Given the description of an element on the screen output the (x, y) to click on. 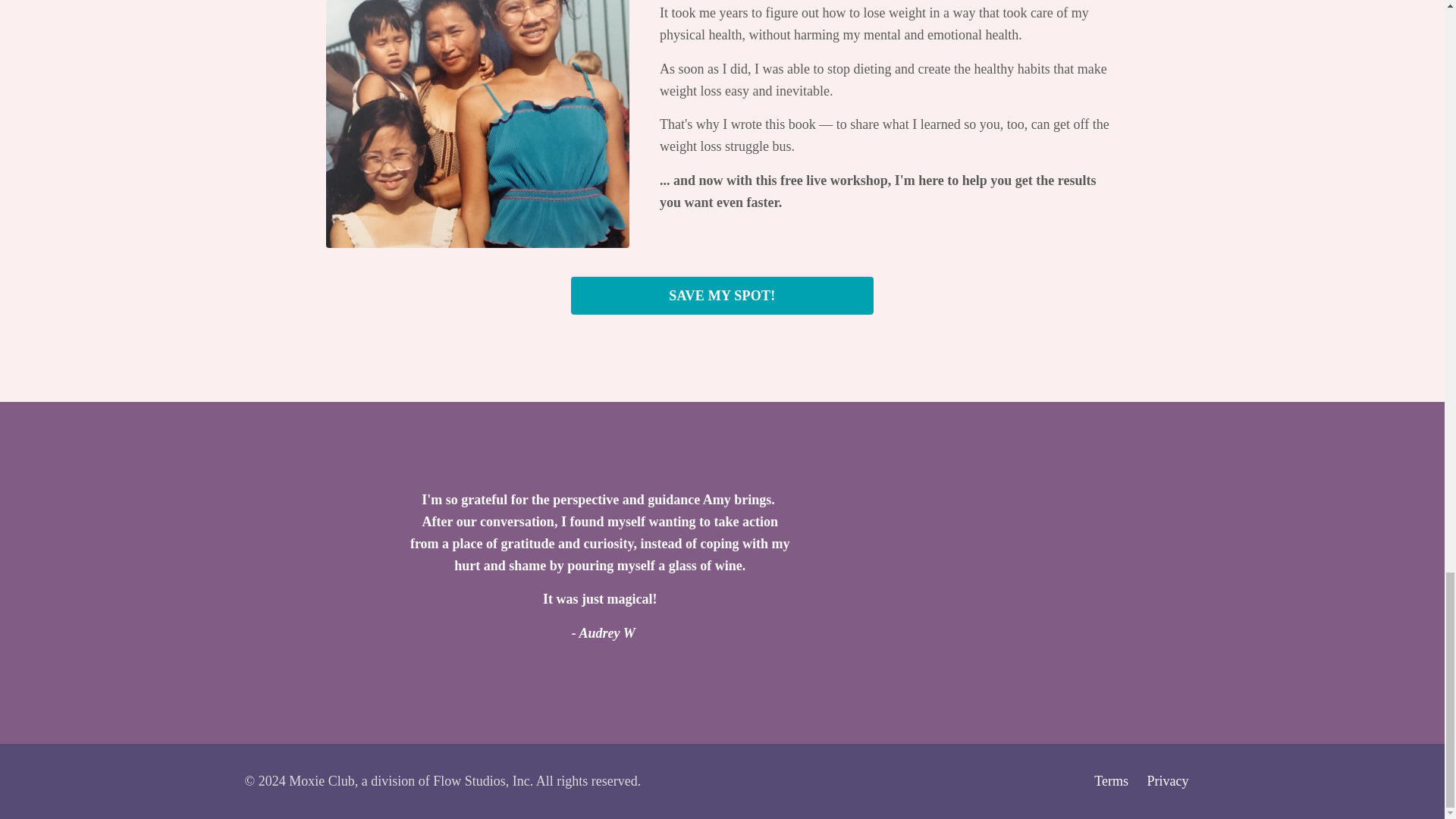
SAVE MY SPOT! (721, 295)
Privacy (1168, 780)
Terms (1111, 780)
